Given the description of an element on the screen output the (x, y) to click on. 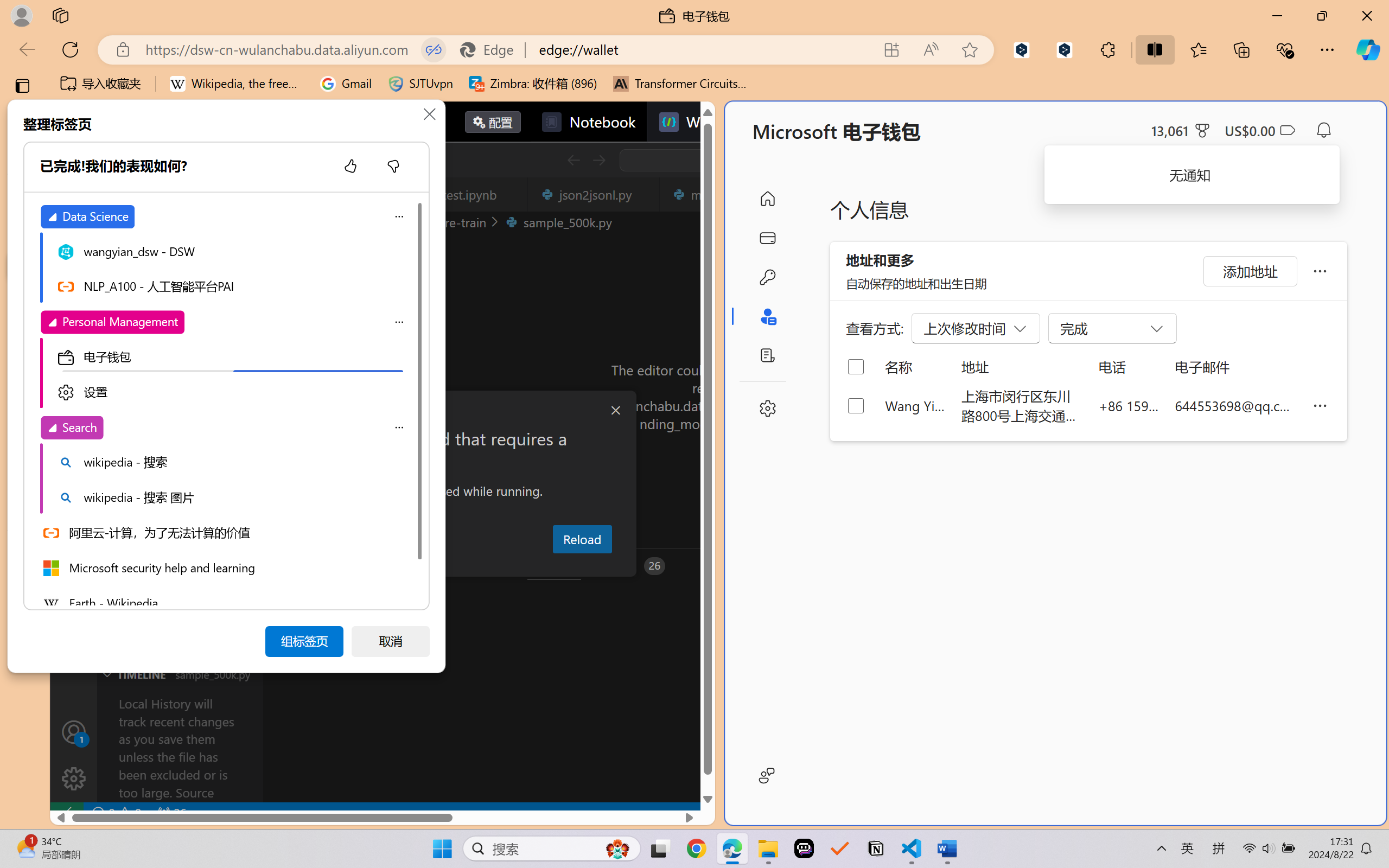
Class: ScrollBarViews (418, 402)
Terminal (Ctrl+`) (553, 565)
Wang Yian (914, 405)
Terminal actions (1002, 565)
